Given the description of an element on the screen output the (x, y) to click on. 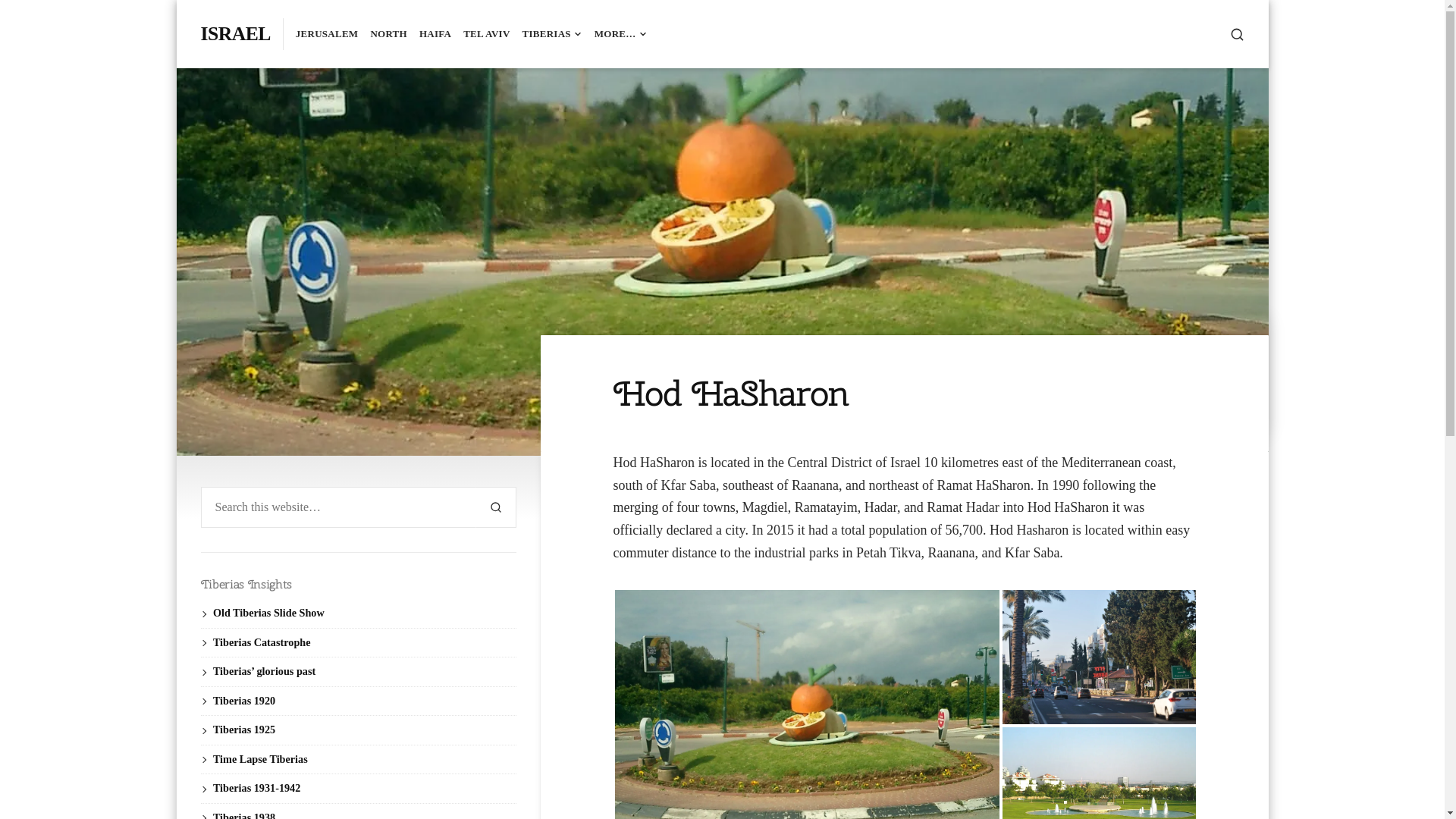
Tiberias Catastrophe Element type: text (261, 642)
SEARCH Element type: text (1237, 34)
TEL AVIV Element type: text (486, 33)
Tiberias 1920 Element type: text (244, 700)
Old Tiberias Slide Show Element type: text (268, 612)
TheSharonRoad Element type: hover (1102, 656)
Time Lapse Tiberias Element type: text (260, 759)
NORTH Element type: text (388, 33)
Tiberias 1925 Element type: text (244, 729)
HAIFA Element type: text (435, 33)
JERUSALEM Element type: text (326, 33)
Search for: Element type: hover (338, 506)
Tiberias 1931-1942 Element type: text (256, 787)
SEARCH Element type: text (496, 506)
ISRAEL Element type: text (234, 33)
TIBERIAS Element type: text (552, 33)
